Given the description of an element on the screen output the (x, y) to click on. 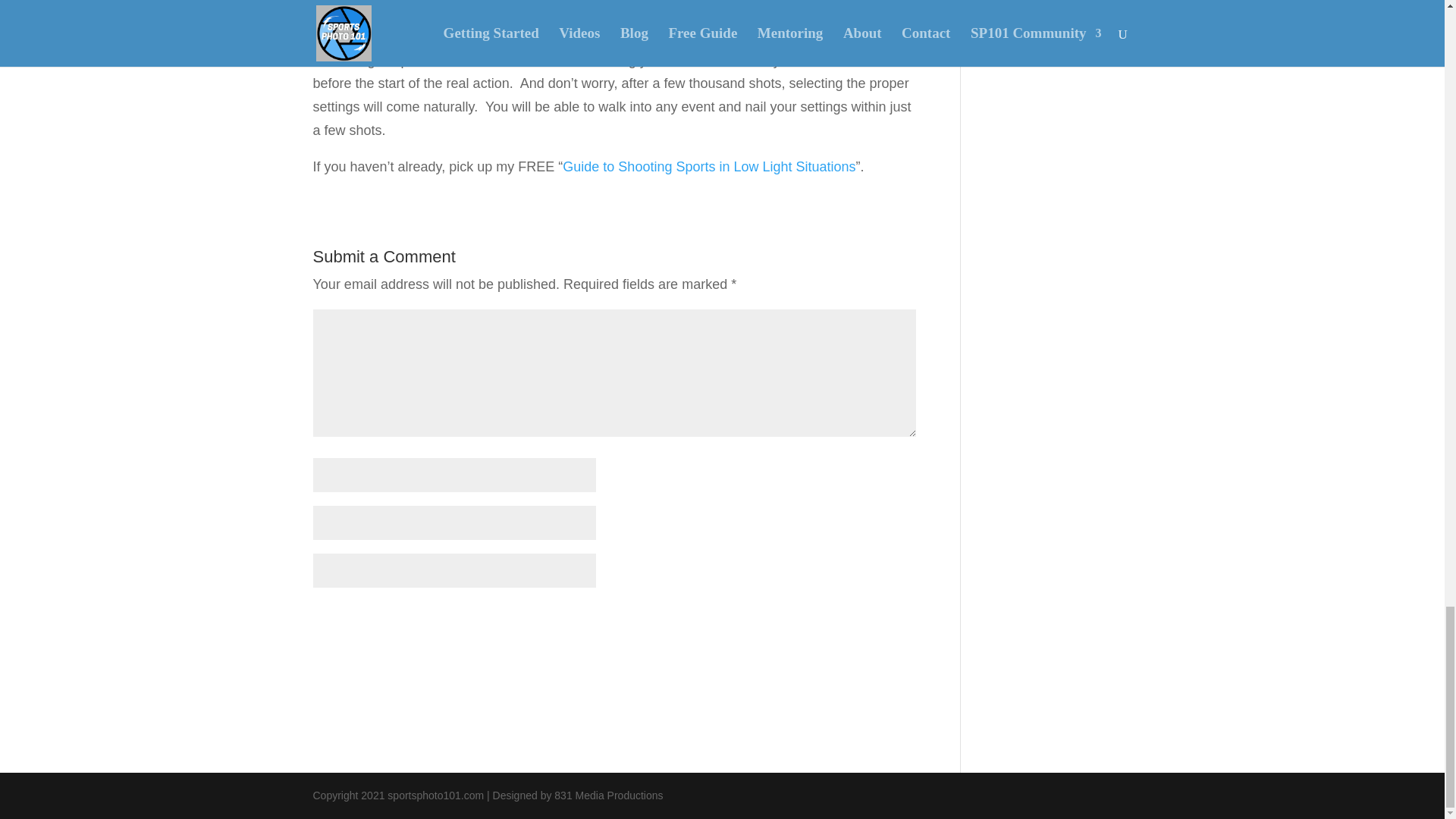
Guide to Shooting Sports in Low Light Situations (709, 166)
Submit Comment (840, 620)
Submit Comment (840, 620)
